Given the description of an element on the screen output the (x, y) to click on. 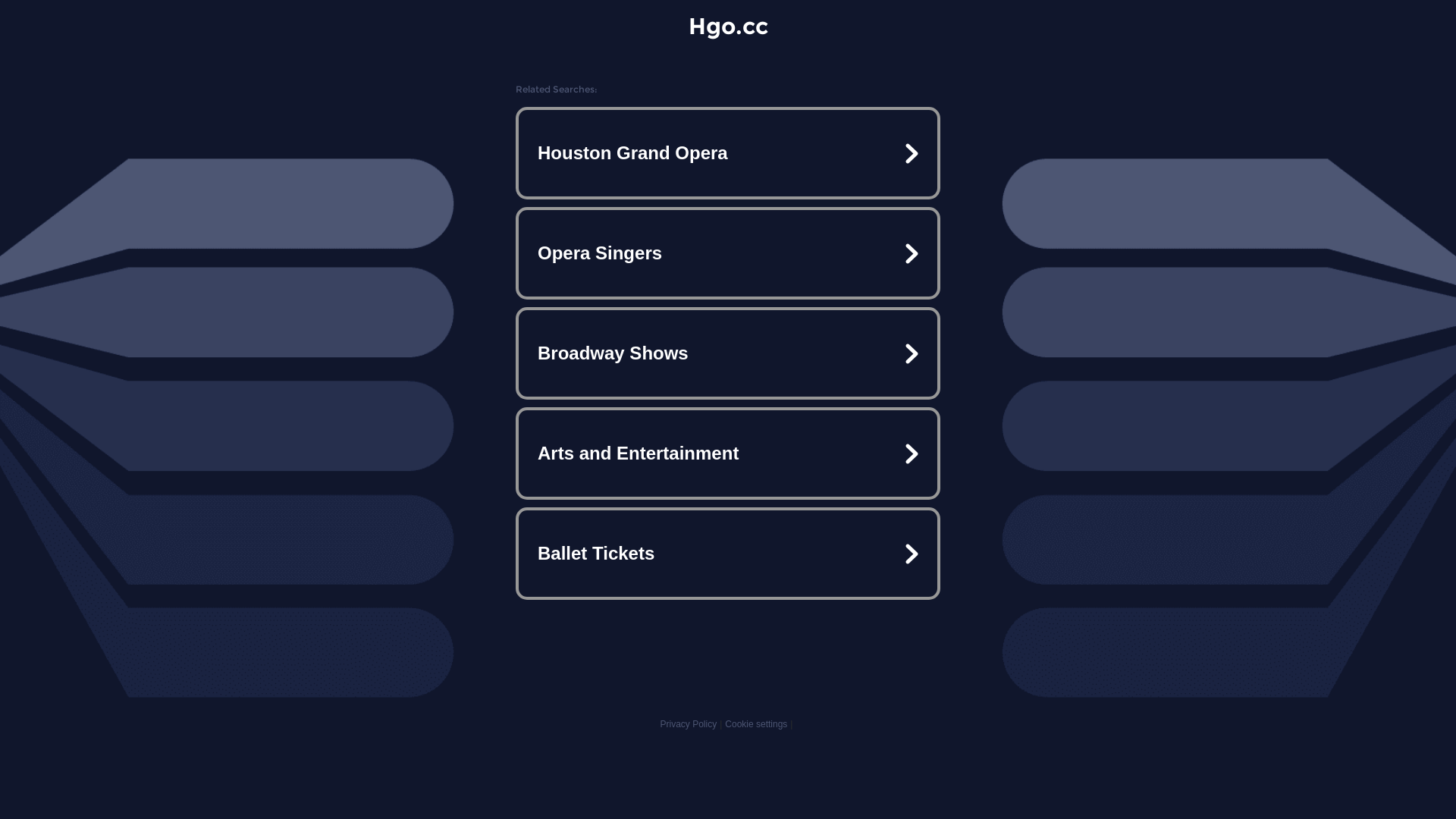
Arts and Entertainment Element type: text (727, 453)
Opera Singers Element type: text (727, 253)
Hgo.cc Element type: text (728, 26)
Ballet Tickets Element type: text (727, 553)
Broadway Shows Element type: text (727, 353)
Privacy Policy Element type: text (687, 723)
Houston Grand Opera Element type: text (727, 152)
Cookie settings Element type: text (755, 723)
